Given the description of an element on the screen output the (x, y) to click on. 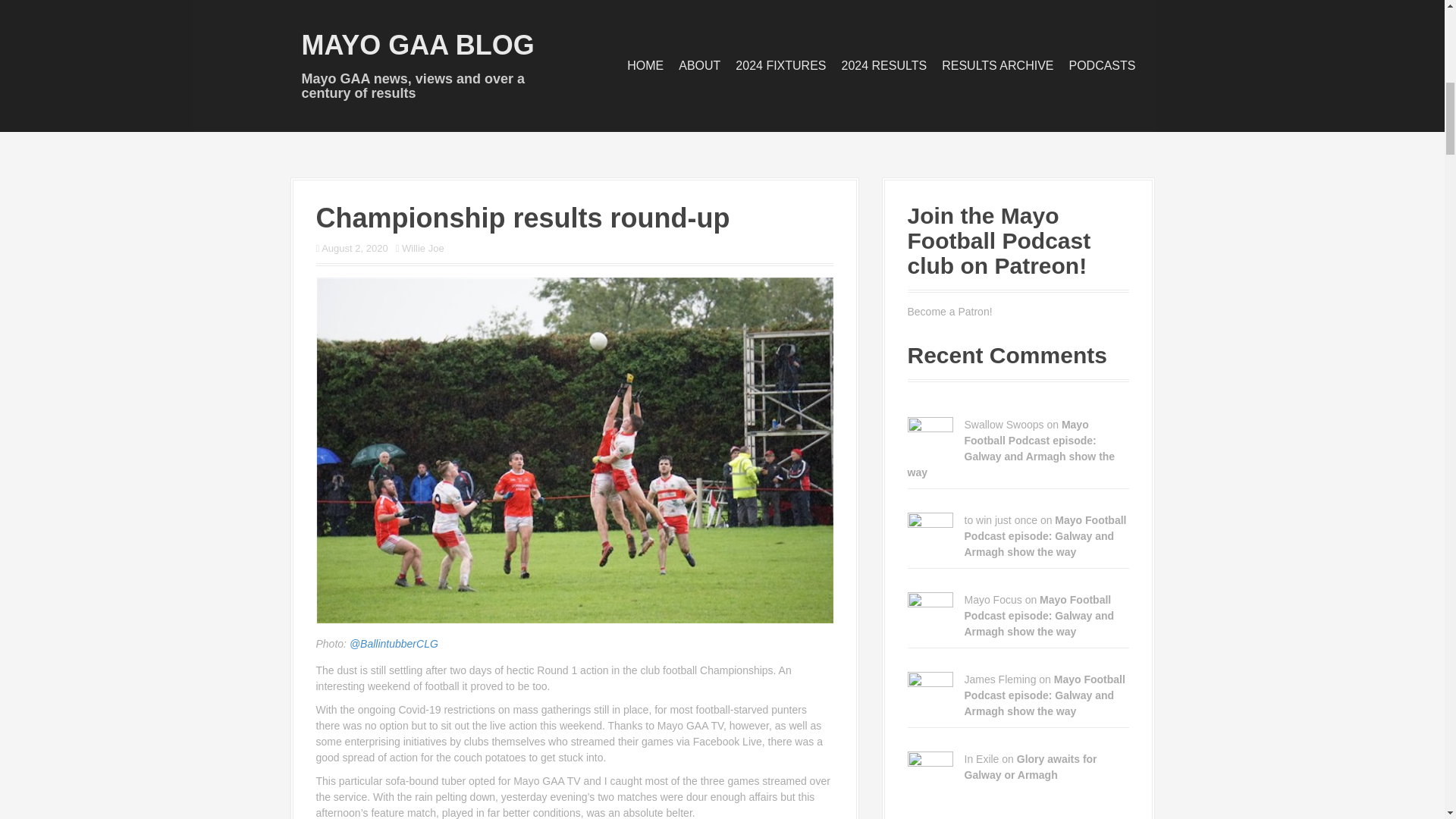
2024 RESULTS (884, 65)
Willie Joe (422, 247)
2024 FIXTURES (780, 65)
August 2, 2020 (354, 247)
ABOUT (699, 65)
HOME (645, 65)
PODCASTS (1101, 65)
RESULTS ARCHIVE (997, 65)
MAYO GAA BLOG (417, 44)
